Given the description of an element on the screen output the (x, y) to click on. 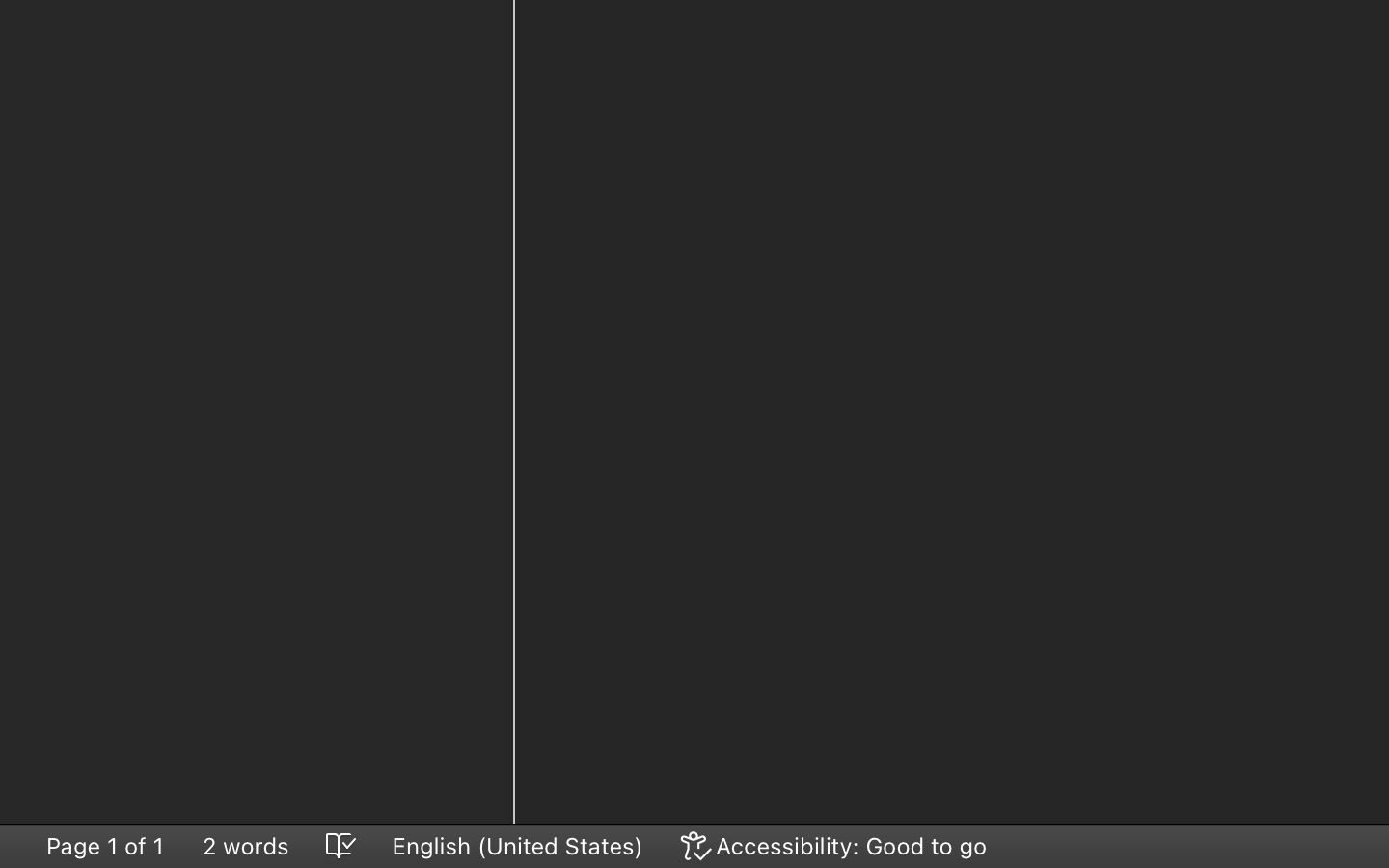
0 Element type: AXCheckBox (835, 845)
